Given the description of an element on the screen output the (x, y) to click on. 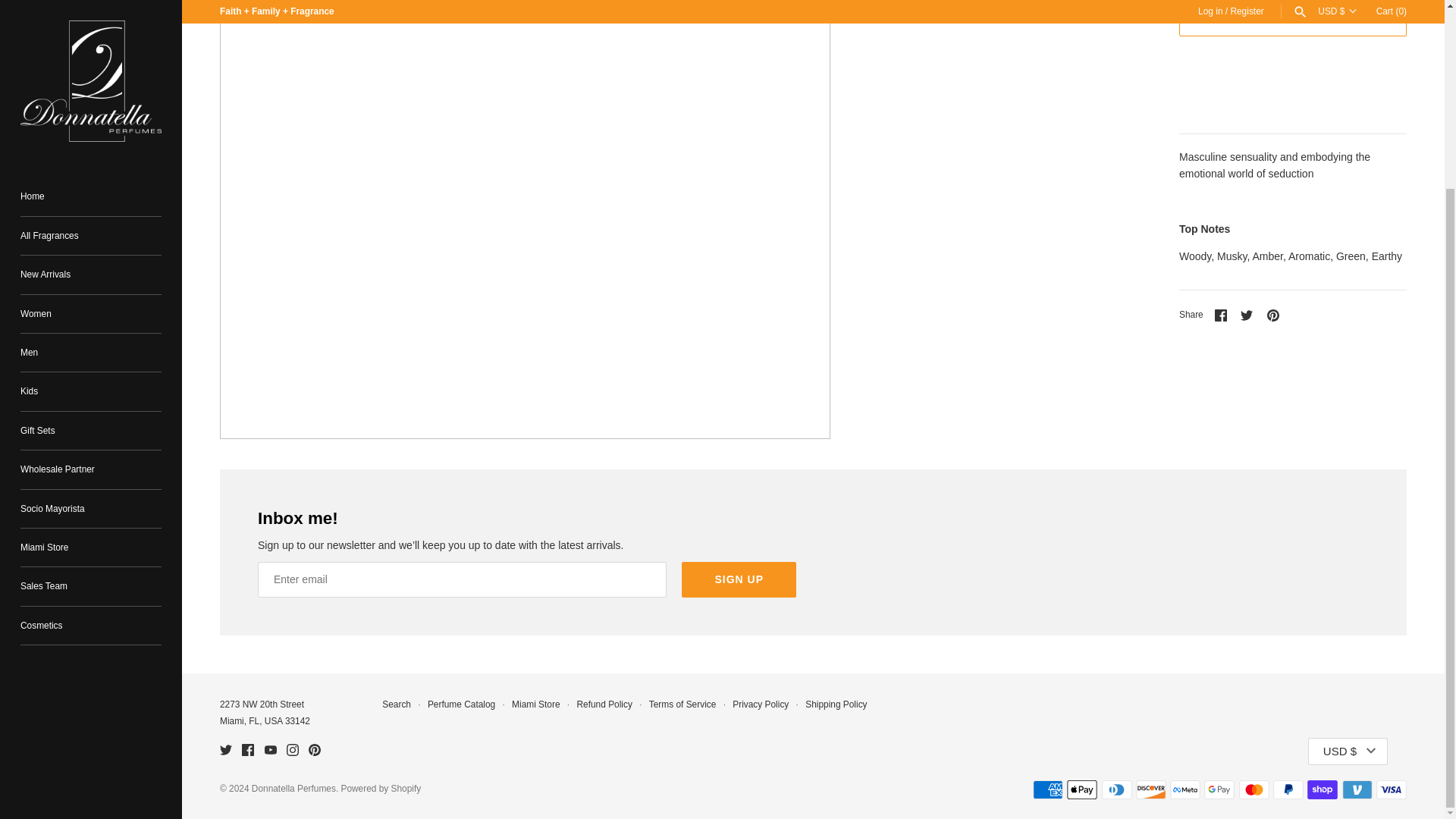
Apple Pay (1082, 789)
Wholesale Partner (90, 235)
Pinterest (314, 749)
New Arrivals (90, 40)
Men (90, 118)
Miami Store (90, 313)
Women (90, 79)
ADD TO CART (1292, 18)
Kids (90, 157)
Mastercard (1254, 789)
PayPal (1287, 789)
Facebook (247, 749)
Youtube (270, 749)
Cosmetics (90, 391)
Discover (1150, 789)
